Given the description of an element on the screen output the (x, y) to click on. 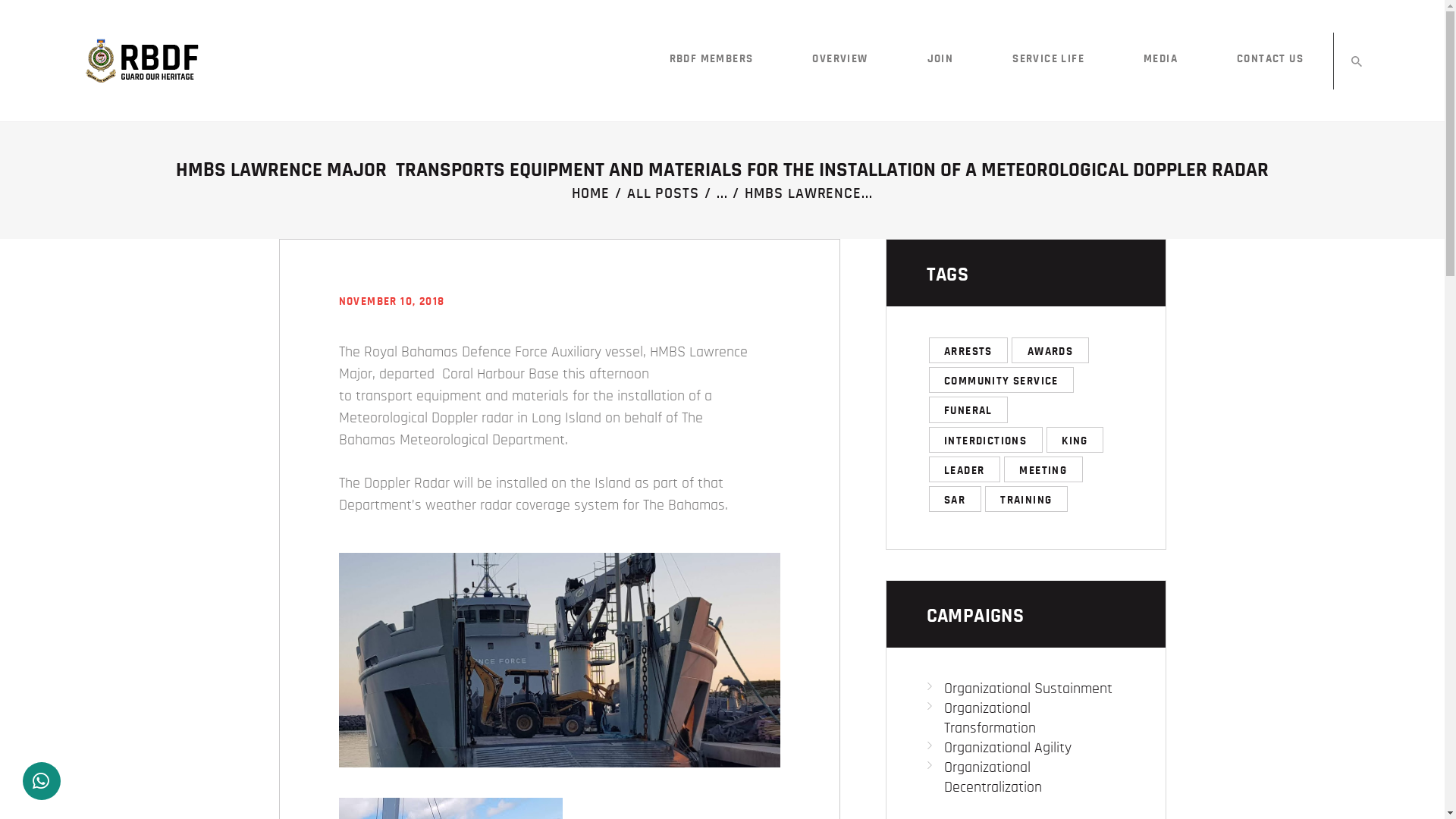
MEETING Element type: text (1043, 469)
ARRESTS Element type: text (967, 350)
Organizational Agility Element type: text (1006, 747)
MEDIA Element type: text (1160, 59)
LEADER Element type: text (963, 469)
NOVEMBER 10, 2018 Element type: text (391, 301)
RBDF MEMBERS Element type: text (711, 59)
SERVICE LIFE Element type: text (1047, 59)
CONTACT US Element type: text (1270, 59)
HOME Element type: text (590, 193)
FUNERAL Element type: text (967, 409)
SAR Element type: text (954, 498)
OVERVIEW Element type: text (839, 59)
TRAINING Element type: text (1026, 498)
ALL POSTS Element type: text (663, 192)
Organizational Transformation Element type: text (989, 717)
INTERDICTIONS Element type: text (984, 439)
Organizational Sustainment Element type: text (1027, 688)
KING Element type: text (1075, 439)
COMMUNITY SERVICE Element type: text (1000, 379)
AWARDS Element type: text (1049, 350)
Organizational Decentralization Element type: text (992, 776)
JOIN Element type: text (940, 59)
